Given the description of an element on the screen output the (x, y) to click on. 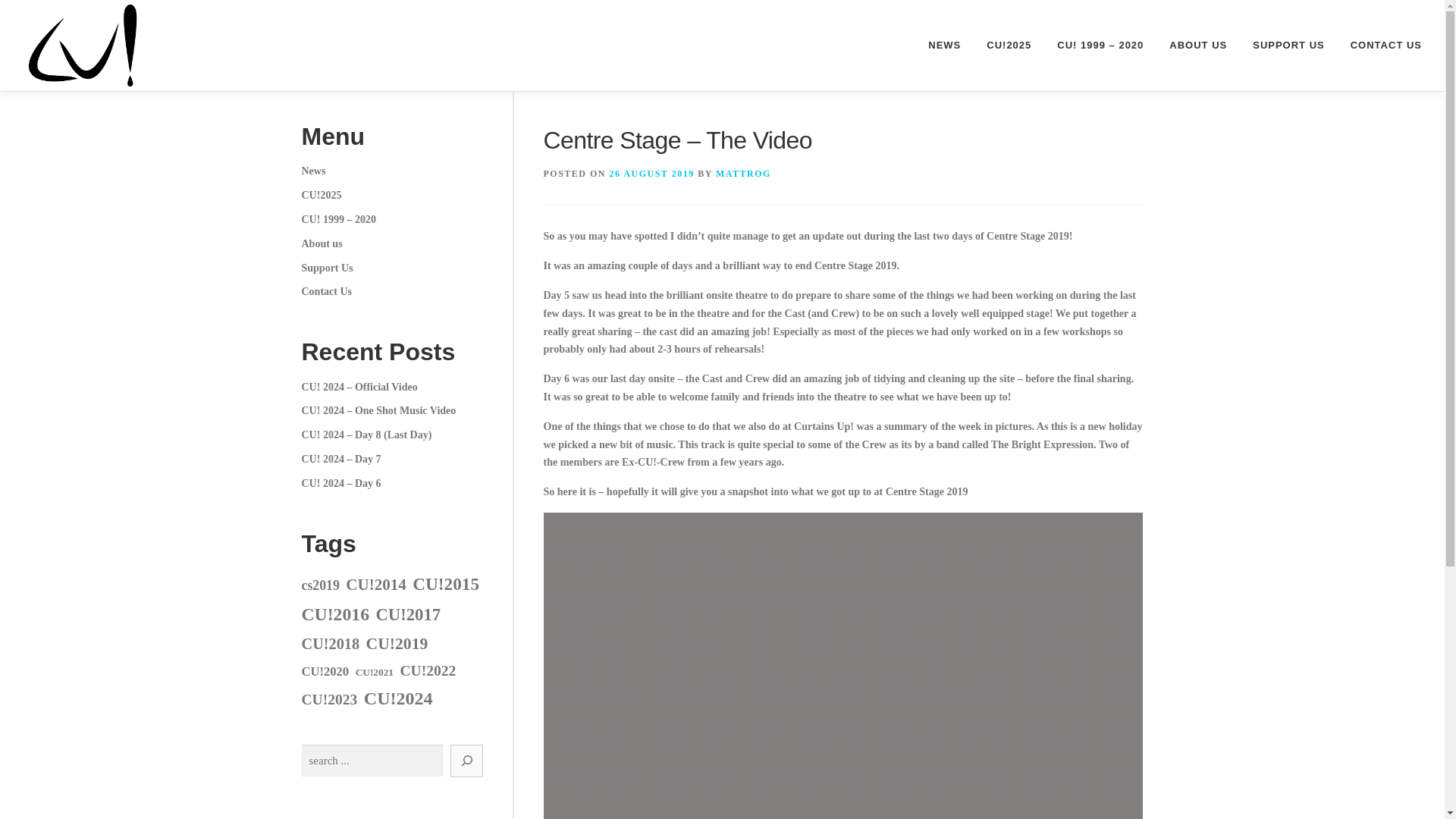
CU!2019 (397, 643)
SUPPORT US (1289, 45)
About us (321, 243)
CU!2023 (329, 699)
CU!2021 (374, 672)
CU!2024 (398, 698)
Support Us (327, 267)
cs2019 (320, 585)
CONTACT US (1380, 45)
26 AUGUST 2019 (652, 173)
